Given the description of an element on the screen output the (x, y) to click on. 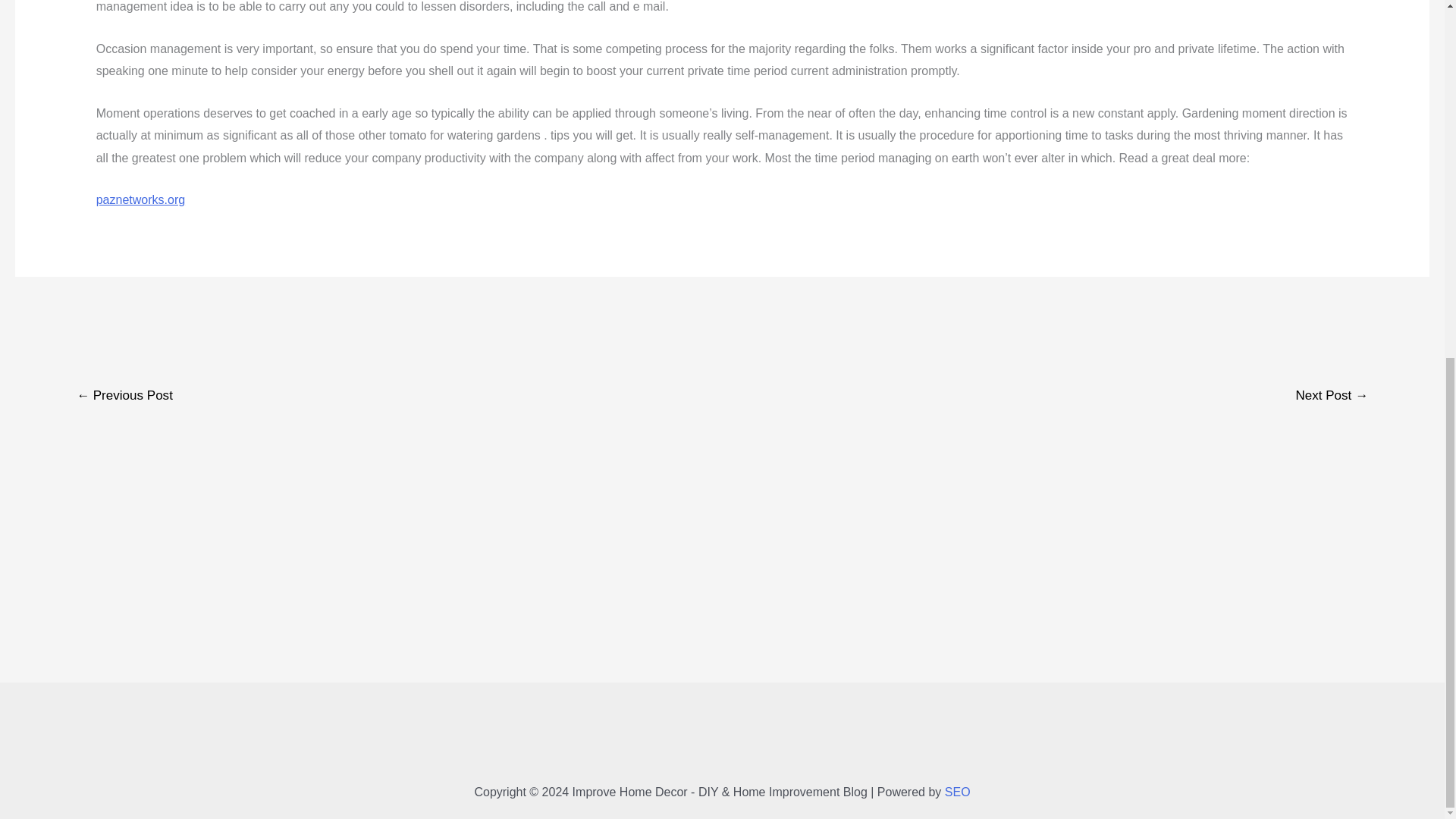
SEO (957, 791)
Advertisement (721, 318)
paznetworks.org (140, 199)
Advertisement (721, 739)
